Given the description of an element on the screen output the (x, y) to click on. 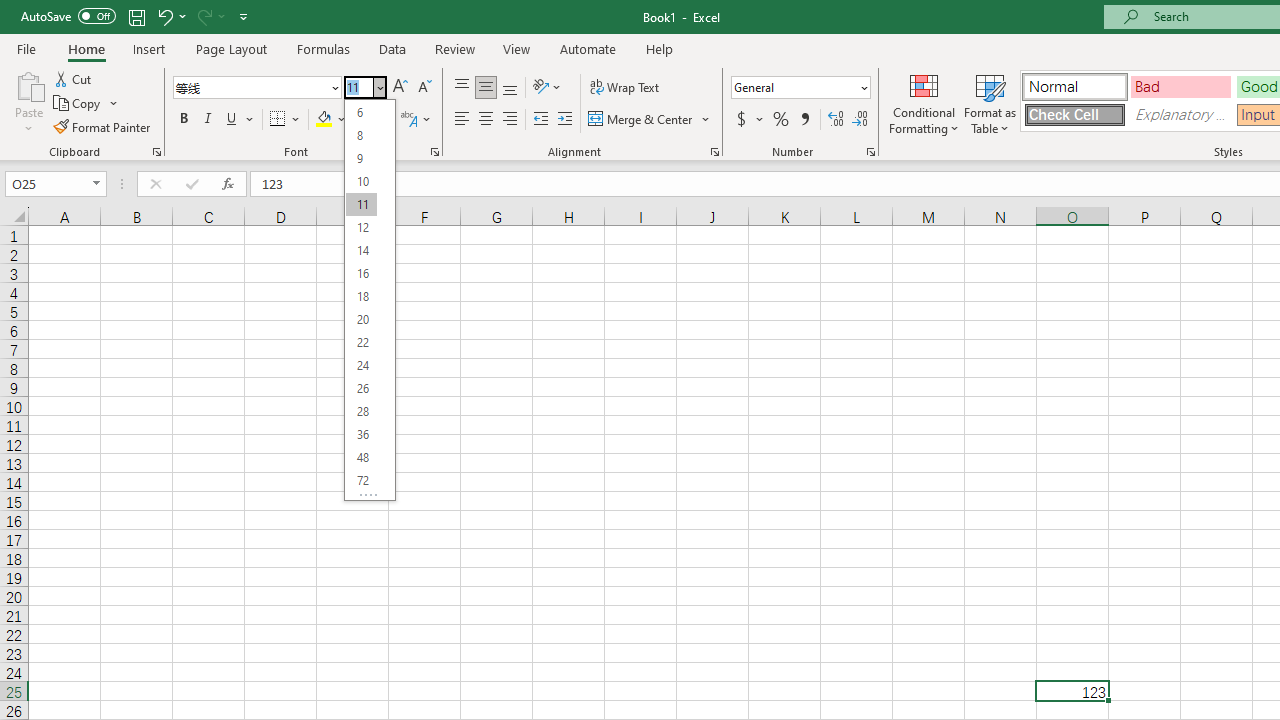
Office Clipboard... (156, 151)
Font Size (358, 87)
22 (361, 342)
Middle Align (485, 87)
Conditional Formatting (924, 102)
20 (361, 319)
Number Format (794, 87)
Increase Decimal (836, 119)
Number Format (800, 87)
14 (361, 250)
Bold (183, 119)
Bad (1180, 86)
